Given the description of an element on the screen output the (x, y) to click on. 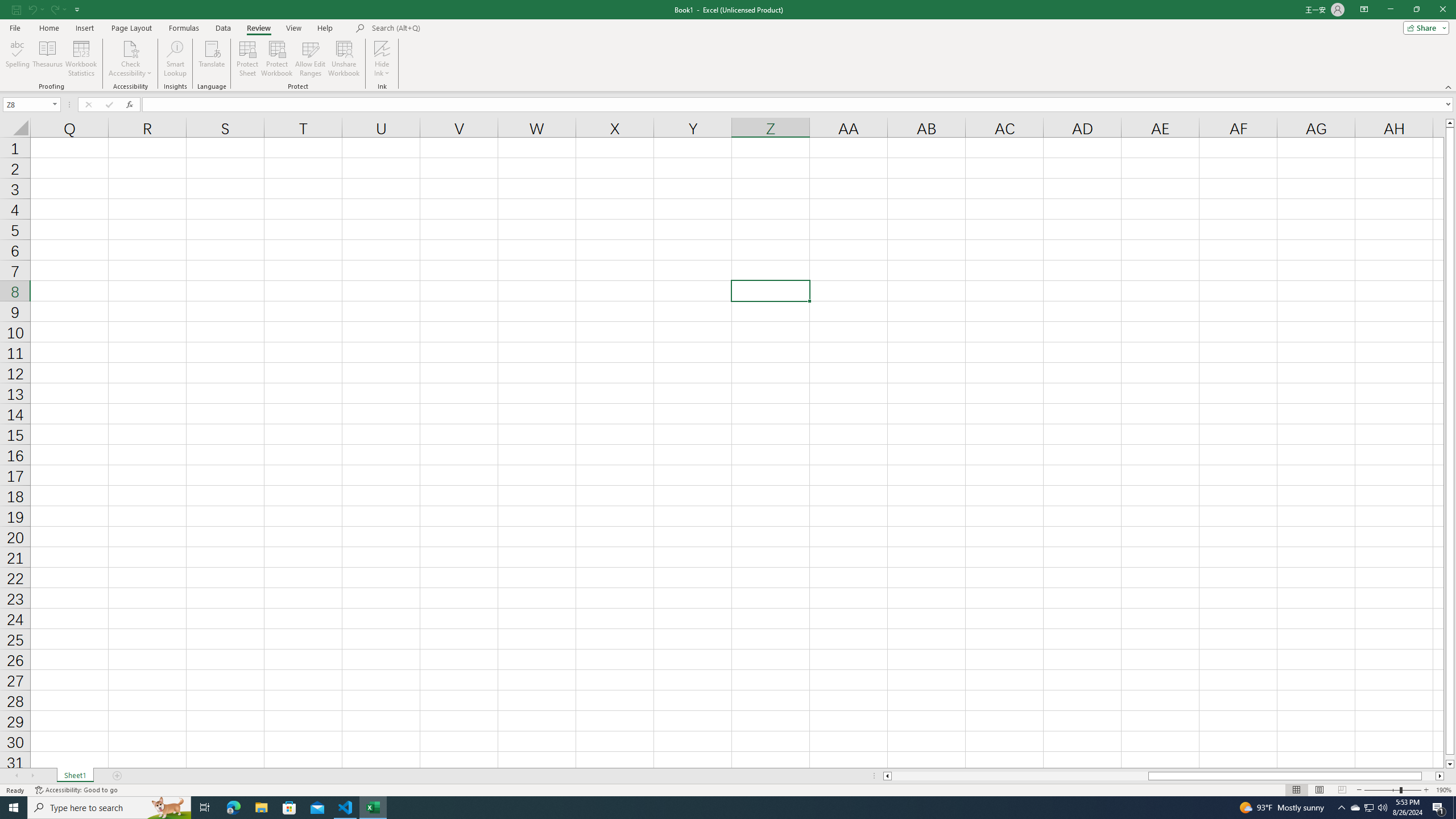
Thesaurus... (47, 58)
Allow Edit Ranges (310, 58)
Data (223, 28)
Line up (1449, 122)
Page right (1428, 775)
Accessibility Checker Accessibility: Good to go (76, 790)
Zoom In (1426, 790)
Page Layout (131, 28)
Close (1442, 9)
Minimize (1390, 9)
Formulas (184, 28)
Class: MsoCommandBar (728, 45)
View (293, 28)
Workbook Statistics (81, 58)
Translate (211, 58)
